Given the description of an element on the screen output the (x, y) to click on. 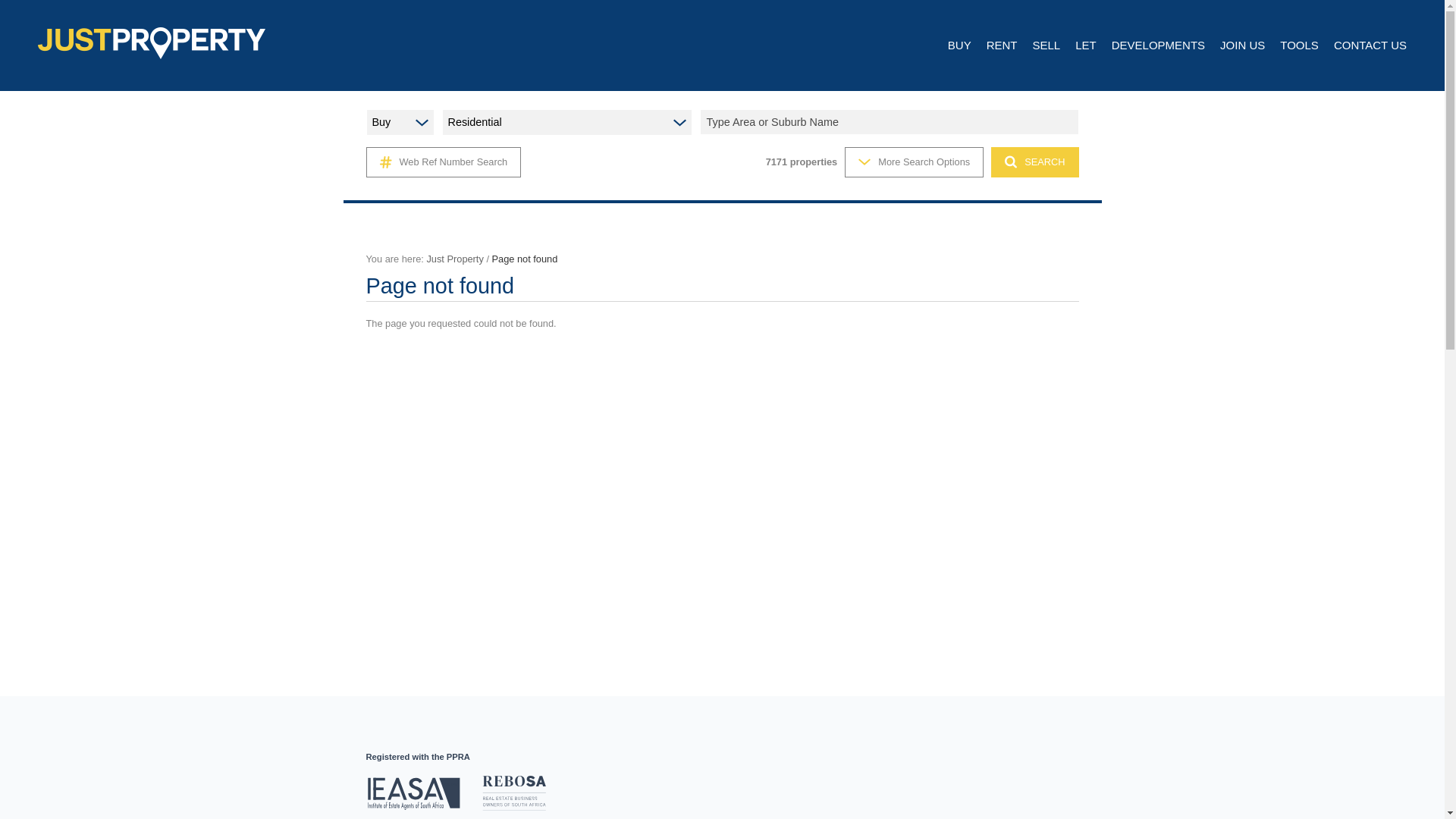
Just Property (454, 258)
DEVELOPMENTS (1158, 45)
BUY (959, 45)
RENT (1002, 45)
SELL (1046, 45)
Page not found (524, 258)
CONTACT US (1369, 45)
TOOLS (1299, 45)
JOIN US (1242, 45)
LET (1085, 45)
